Given the description of an element on the screen output the (x, y) to click on. 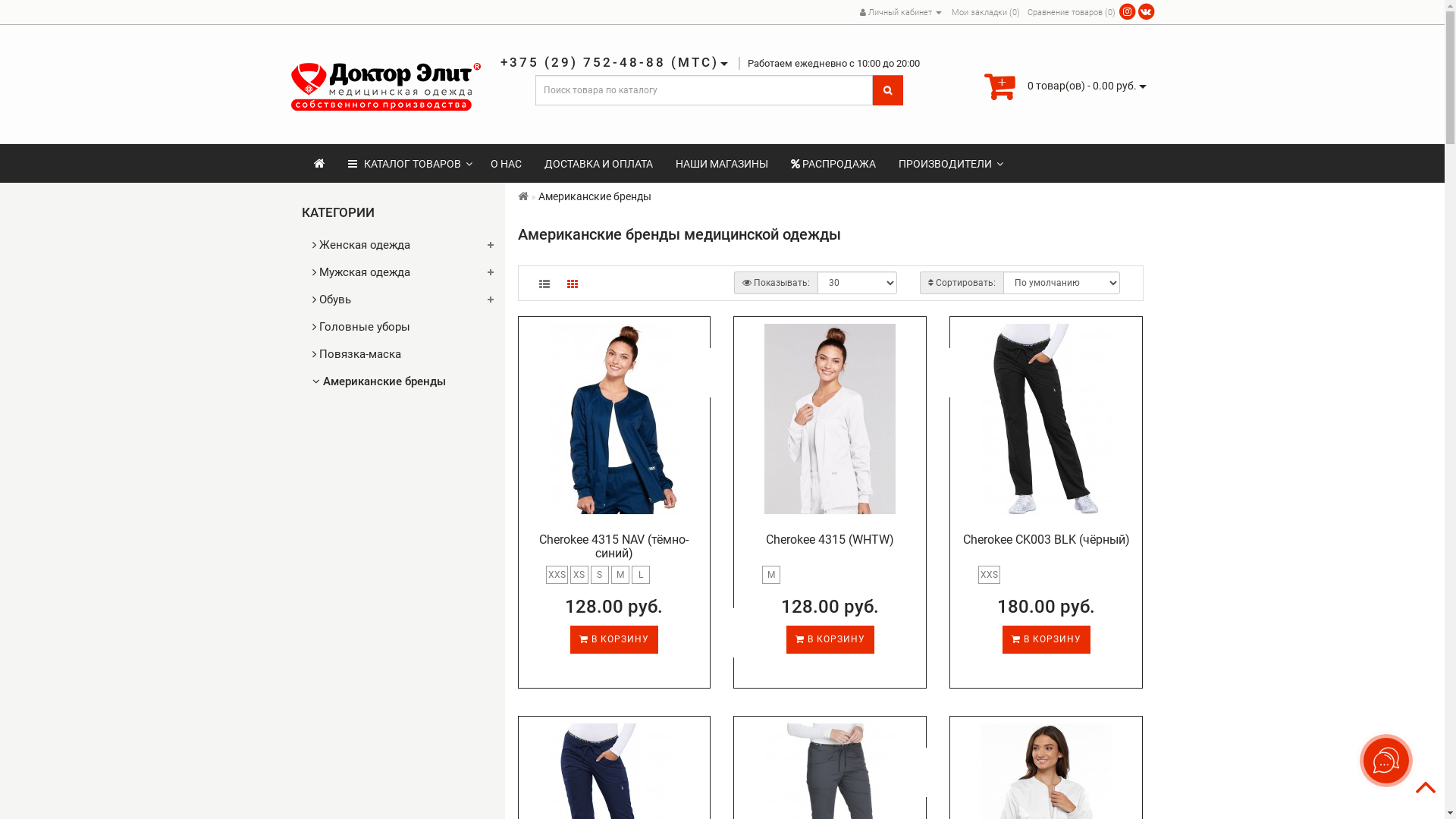
Cherokee 4315 (WHTW) Element type: hover (829, 418)
Cherokee 4315 (WHTW) Element type: text (829, 539)
VK Element type: hover (1146, 11)
Instagram Element type: hover (1127, 11)
